Given the description of an element on the screen output the (x, y) to click on. 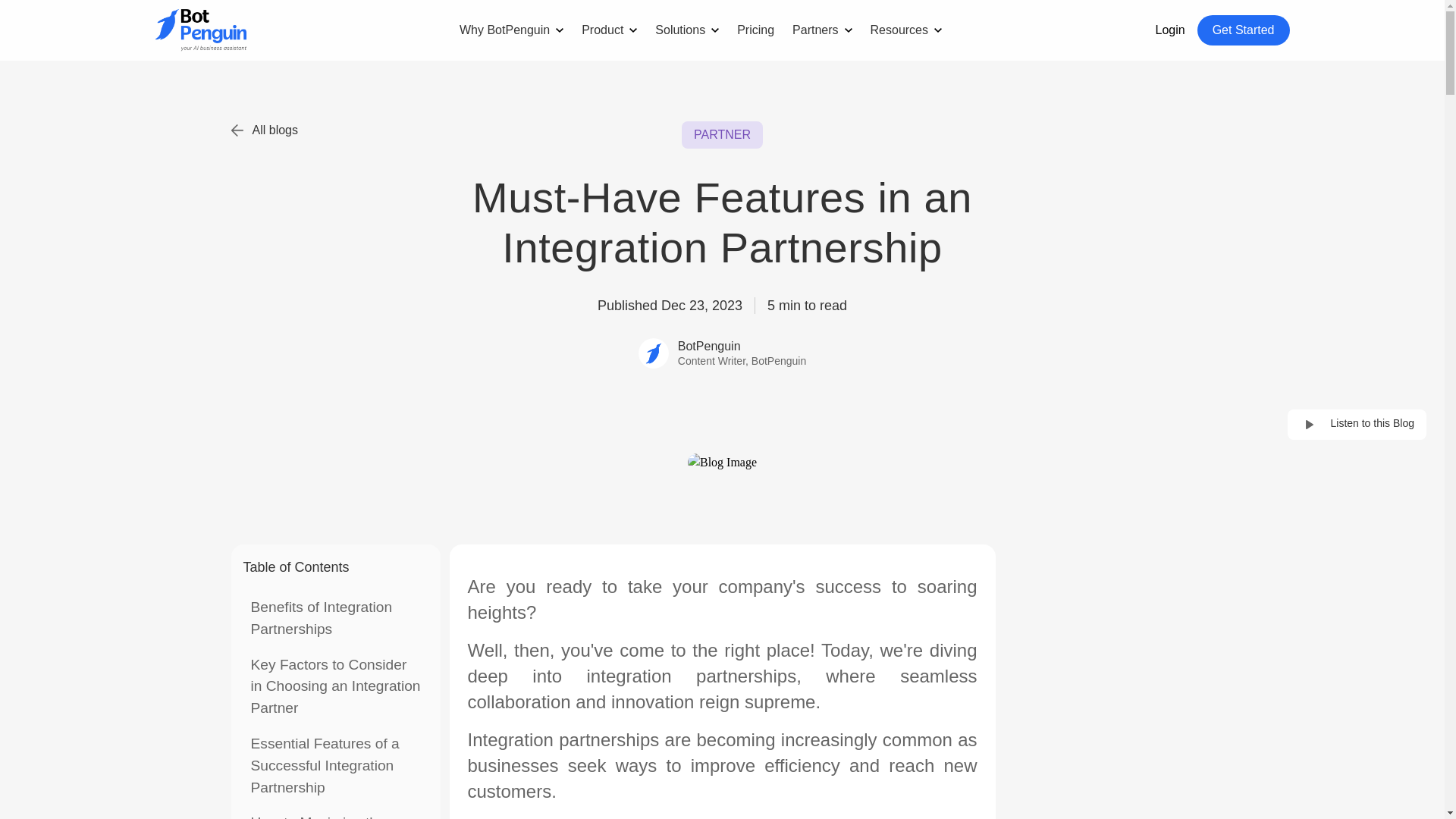
BotPenguin (742, 347)
Get Started (1243, 30)
Login (1170, 30)
Pricing (755, 30)
PARTNER (721, 134)
All blogs (263, 130)
